Given the description of an element on the screen output the (x, y) to click on. 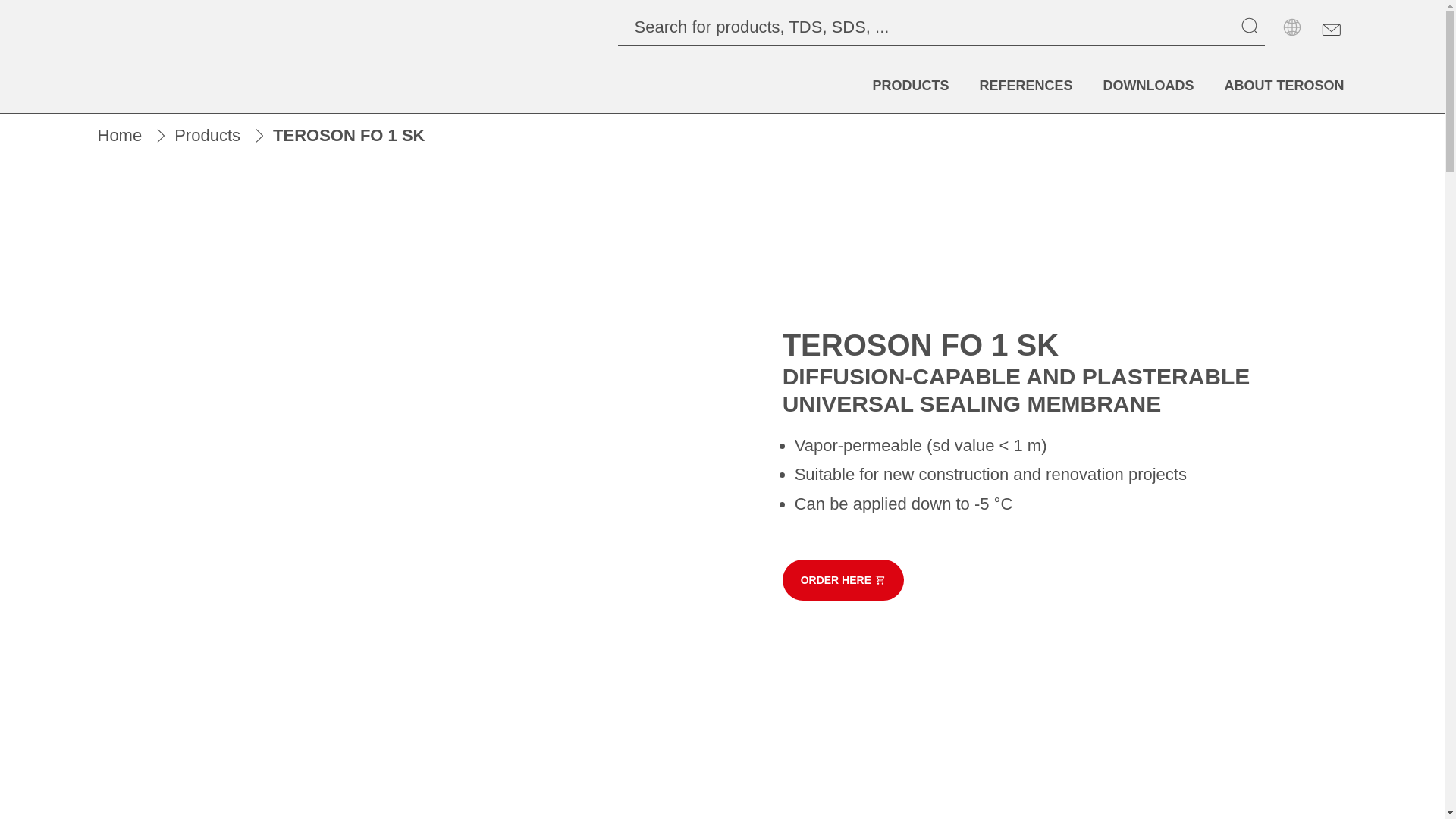
PRODUCTS (910, 86)
ORDER HERE (843, 579)
DOWNLOADS (1147, 86)
ABOUT TEROSON (1283, 86)
Search for products, TDS, SDS, ... (929, 27)
Products (207, 135)
REFERENCES (1025, 86)
Home (119, 135)
